Given the description of an element on the screen output the (x, y) to click on. 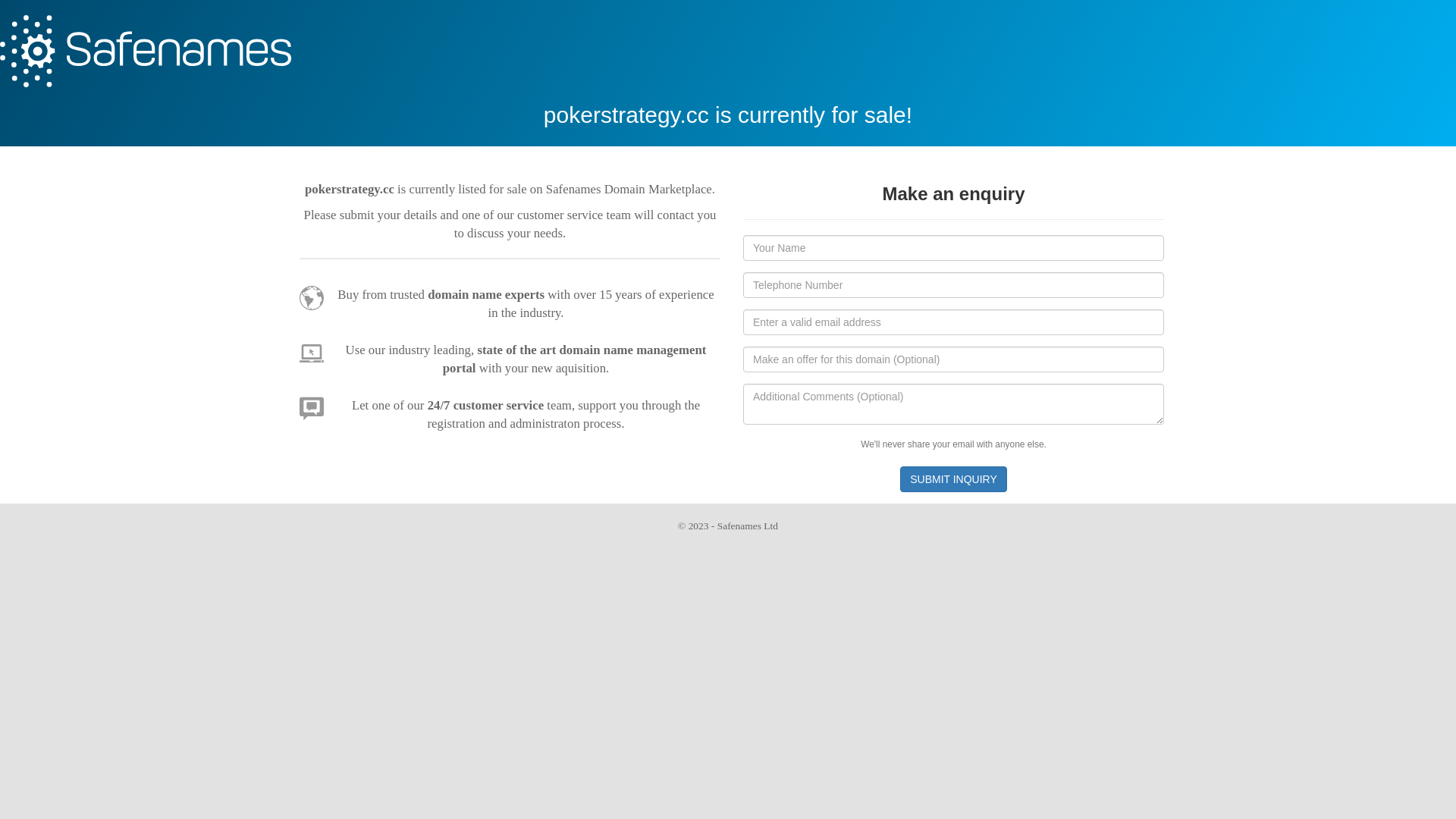
SUBMIT INQUIRY Element type: text (953, 479)
